Given the description of an element on the screen output the (x, y) to click on. 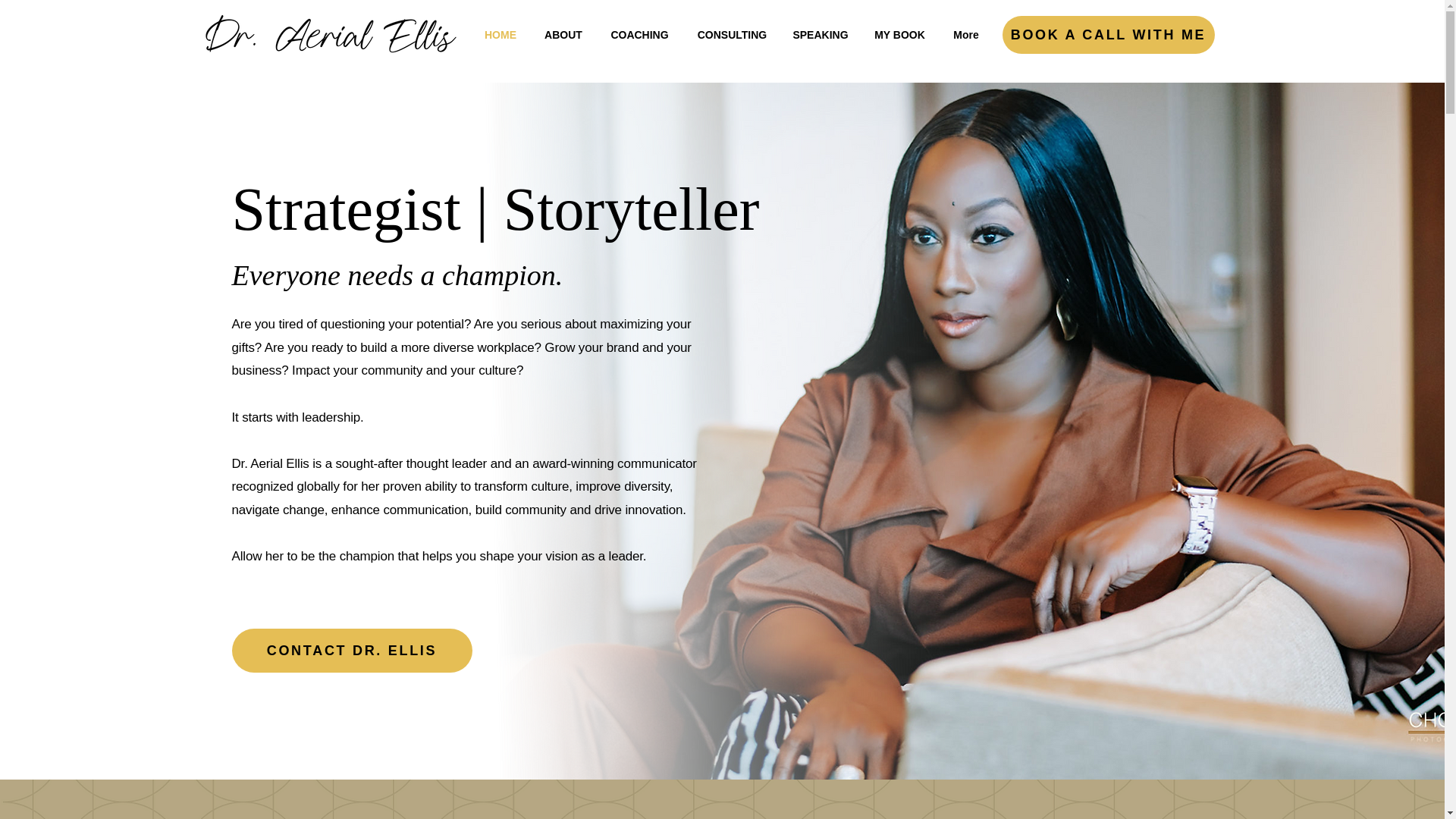
SPEAKING (820, 34)
BOOK A CALL WITH ME (1108, 34)
MY BOOK (899, 34)
CONSULTING (732, 34)
HOME (500, 34)
COACHING (639, 34)
ABOUT (563, 34)
CONTACT DR. ELLIS (351, 650)
